Given the description of an element on the screen output the (x, y) to click on. 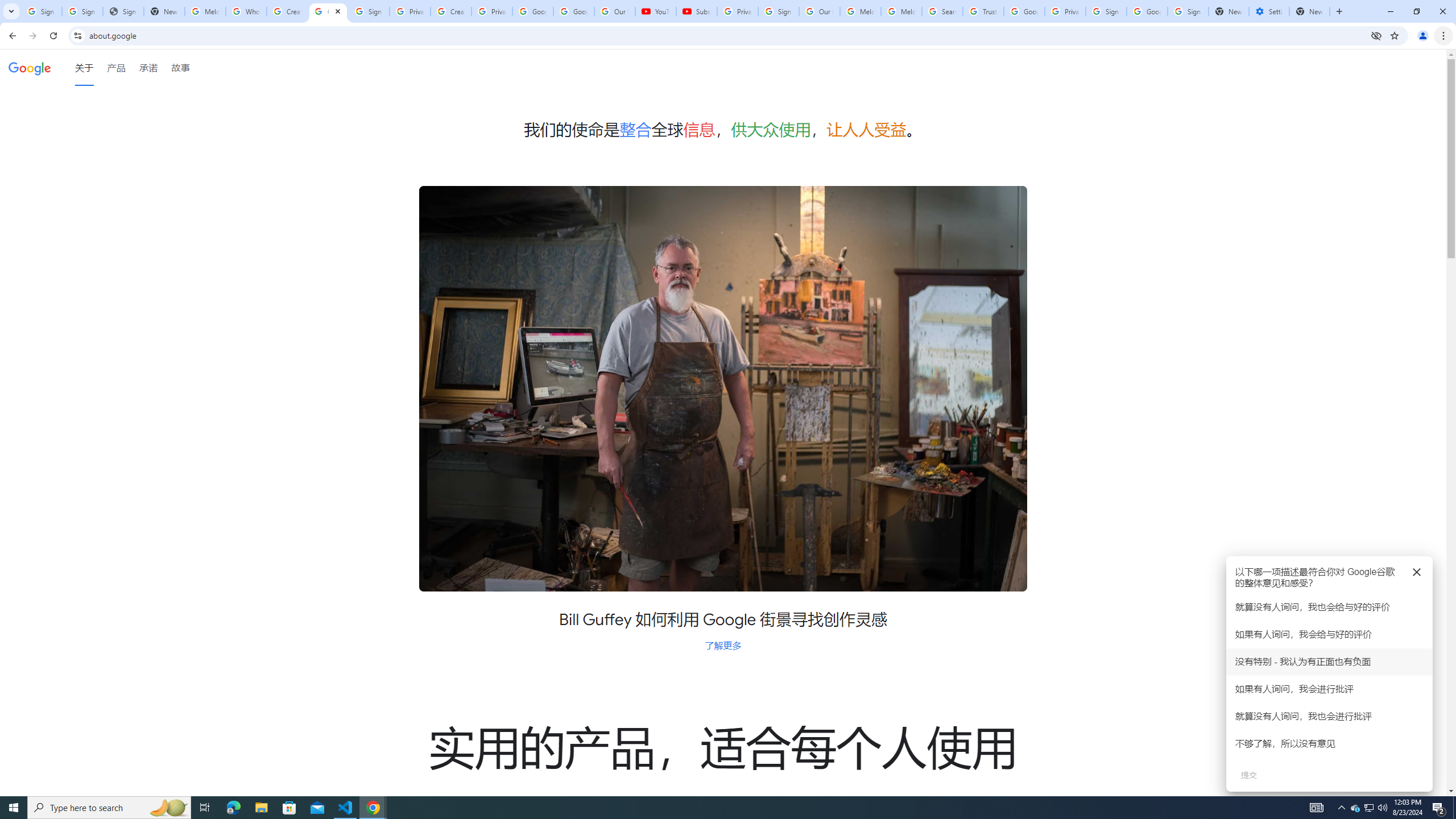
Google Account (573, 11)
Chrome (1445, 35)
Forward (32, 35)
Reload (52, 35)
Create your Google Account (287, 11)
Restore (1416, 11)
Sign In - USA TODAY (122, 11)
